Given the description of an element on the screen output the (x, y) to click on. 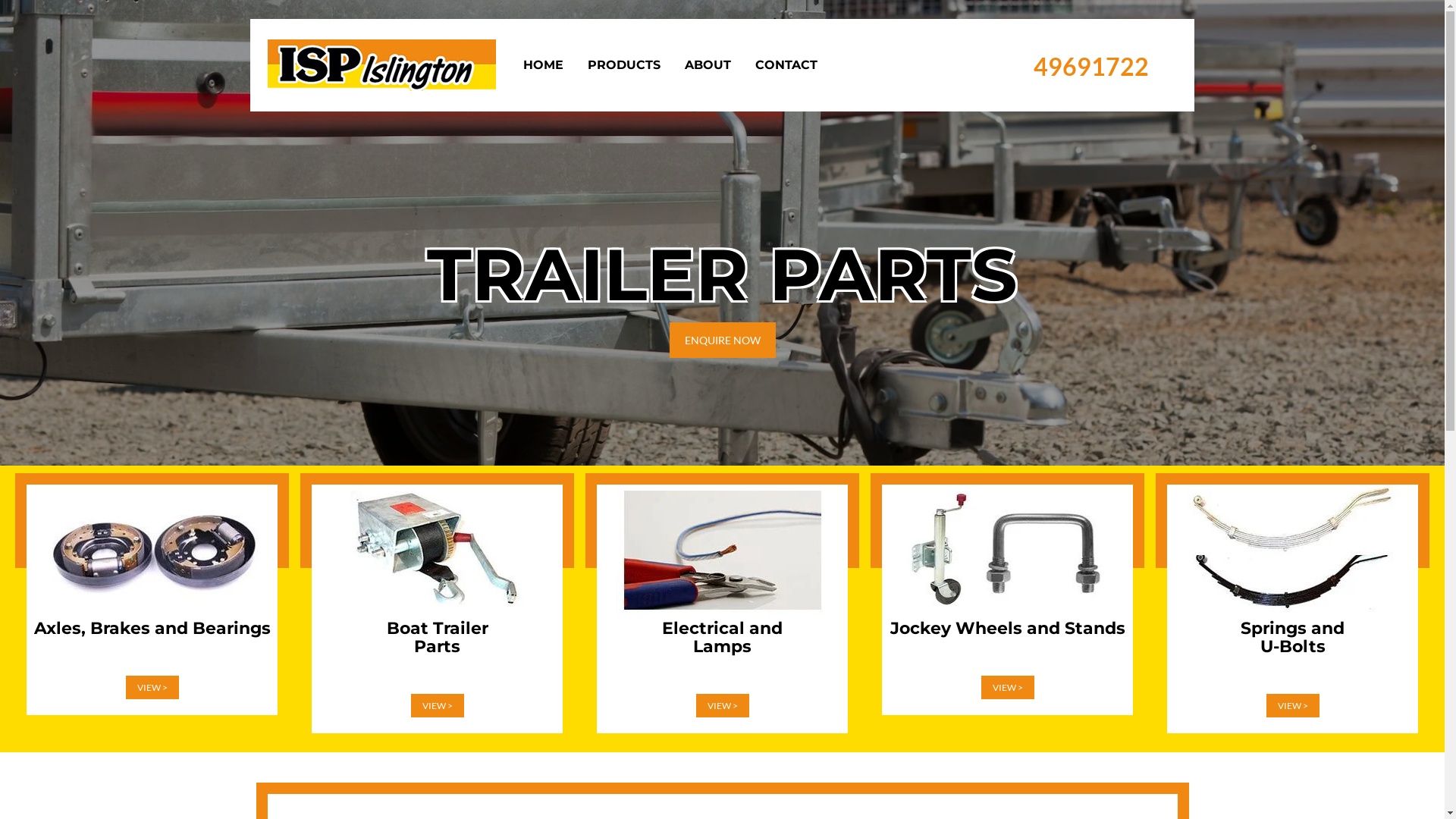
springs-and-ubolts-feature Element type: hover (1292, 549)
ABOUT Element type: text (706, 64)
VIEW > Element type: text (1292, 705)
CONTACT Element type: text (786, 64)
PRODUCTS Element type: text (622, 64)
HOME Element type: text (543, 64)
VIEW > Element type: text (1007, 687)
VIEW > Element type: text (437, 705)
jockey-wheels- Element type: hover (1006, 549)
electrics Element type: hover (721, 549)
49691722 Element type: text (1090, 66)
VIEW > Element type: text (151, 687)
ENQUIRE NOW Element type: text (721, 339)
VIEW > Element type: text (722, 705)
brakes-and-axles-feature Element type: hover (151, 549)
boats-and-trailers-feature Element type: hover (436, 549)
